Given the description of an element on the screen output the (x, y) to click on. 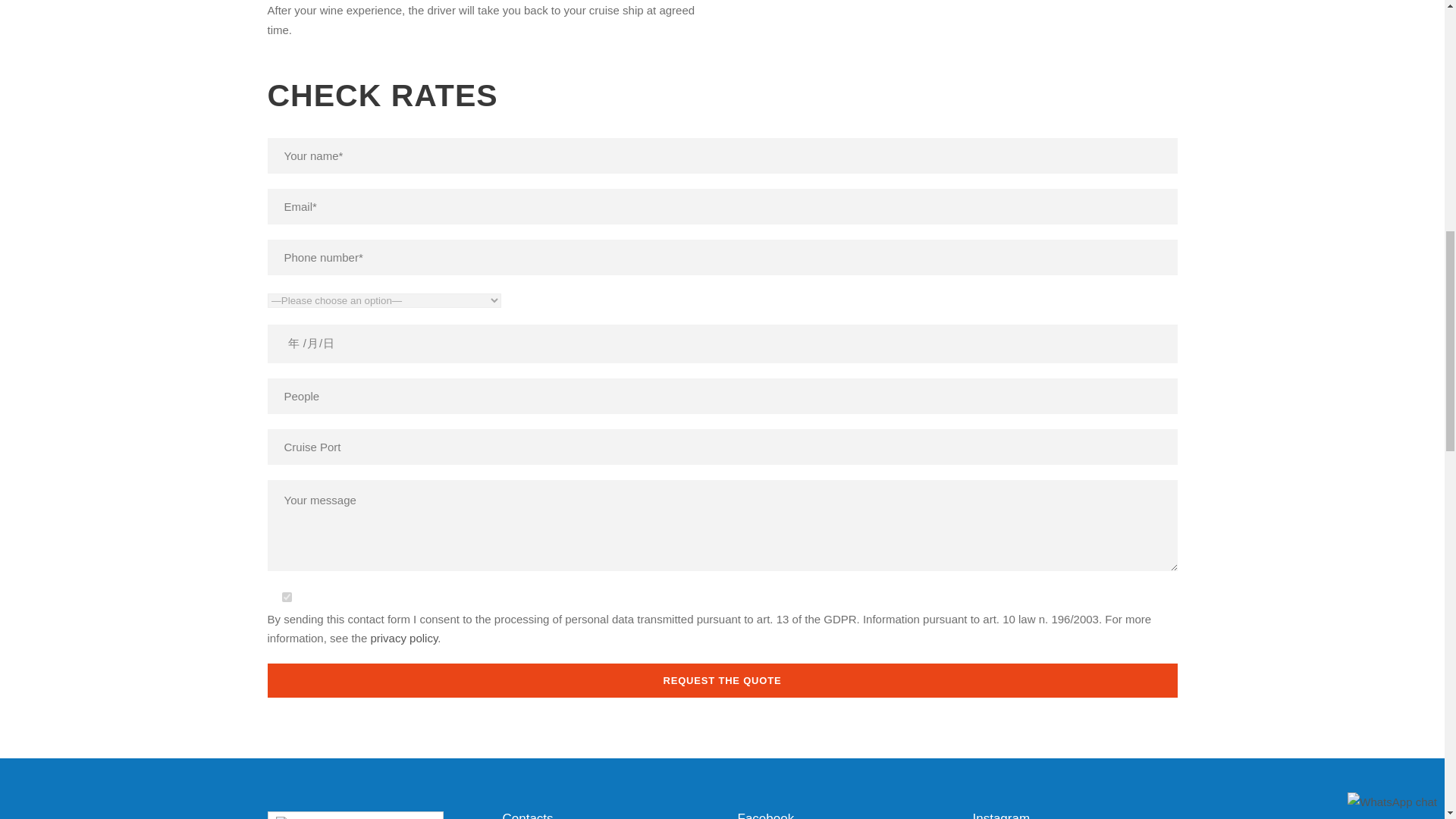
English (288, 817)
Request the quote (721, 680)
1 (287, 596)
